Given the description of an element on the screen output the (x, y) to click on. 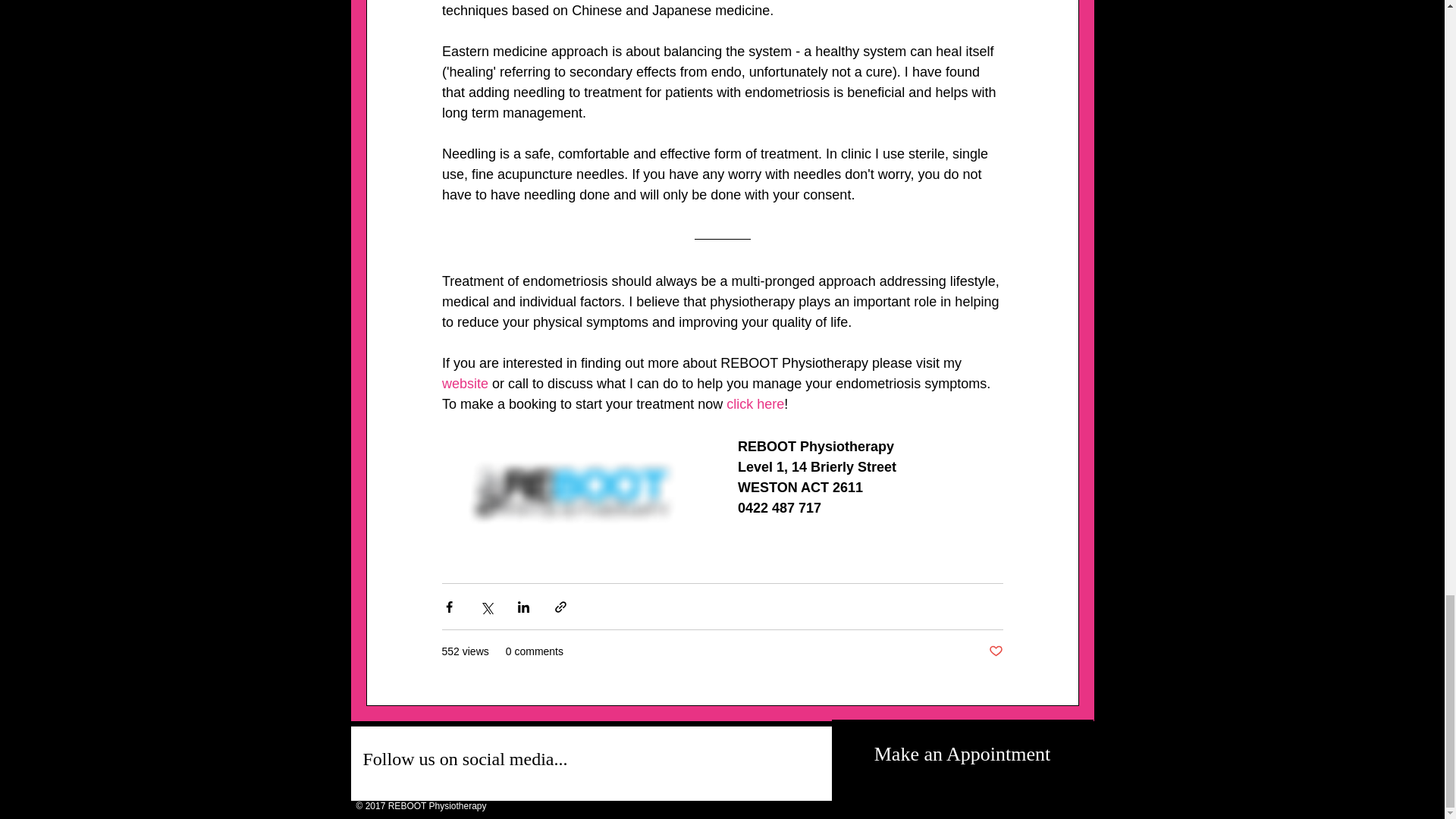
Post not marked as liked (995, 651)
Make an Appointment (962, 754)
website (464, 383)
click here (755, 403)
